Given the description of an element on the screen output the (x, y) to click on. 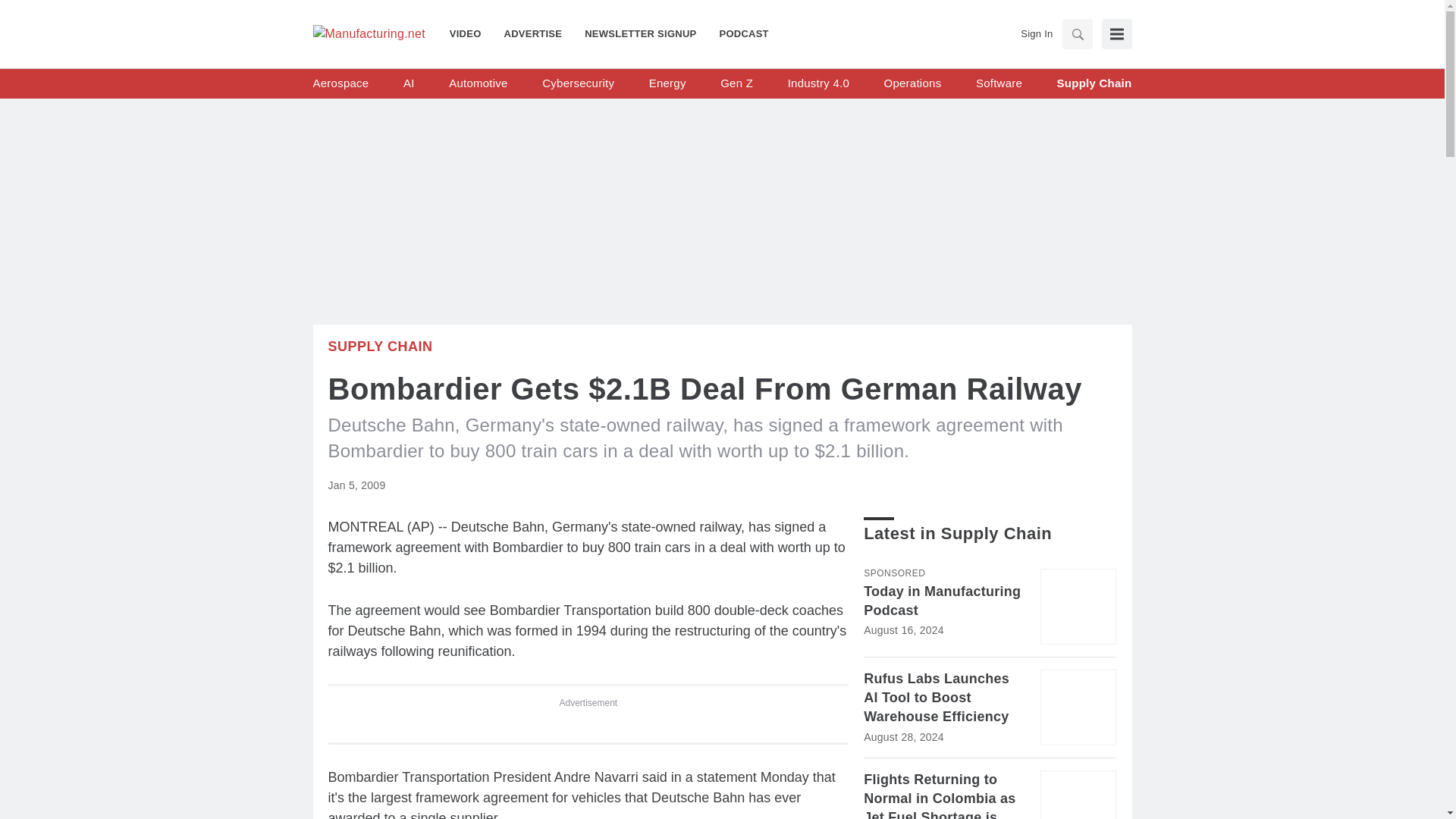
Automotive (478, 83)
Cybersecurity (577, 83)
Energy (667, 83)
Industry 4.0 (817, 83)
Supply Chain (379, 346)
Software (998, 83)
Supply Chain (1094, 83)
Operations (912, 83)
Sponsored (893, 573)
ADVERTISE (533, 33)
